Given the description of an element on the screen output the (x, y) to click on. 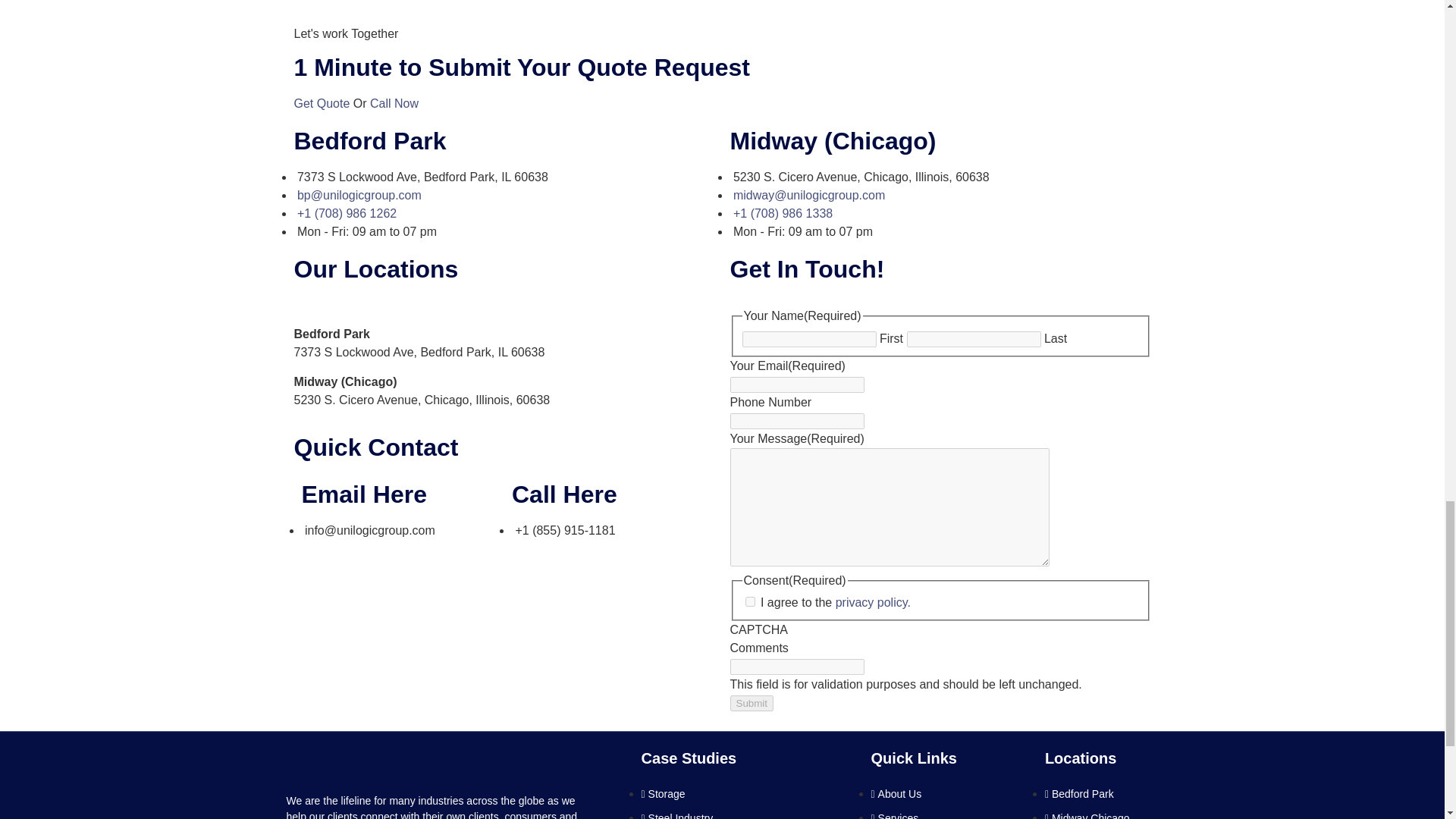
Storage (663, 793)
Call Now (394, 103)
Submit (751, 703)
Submit (751, 703)
1 (749, 601)
Get Quote (323, 103)
About Us (895, 793)
Steel Industry (677, 815)
privacy policy. (873, 602)
